Given the description of an element on the screen output the (x, y) to click on. 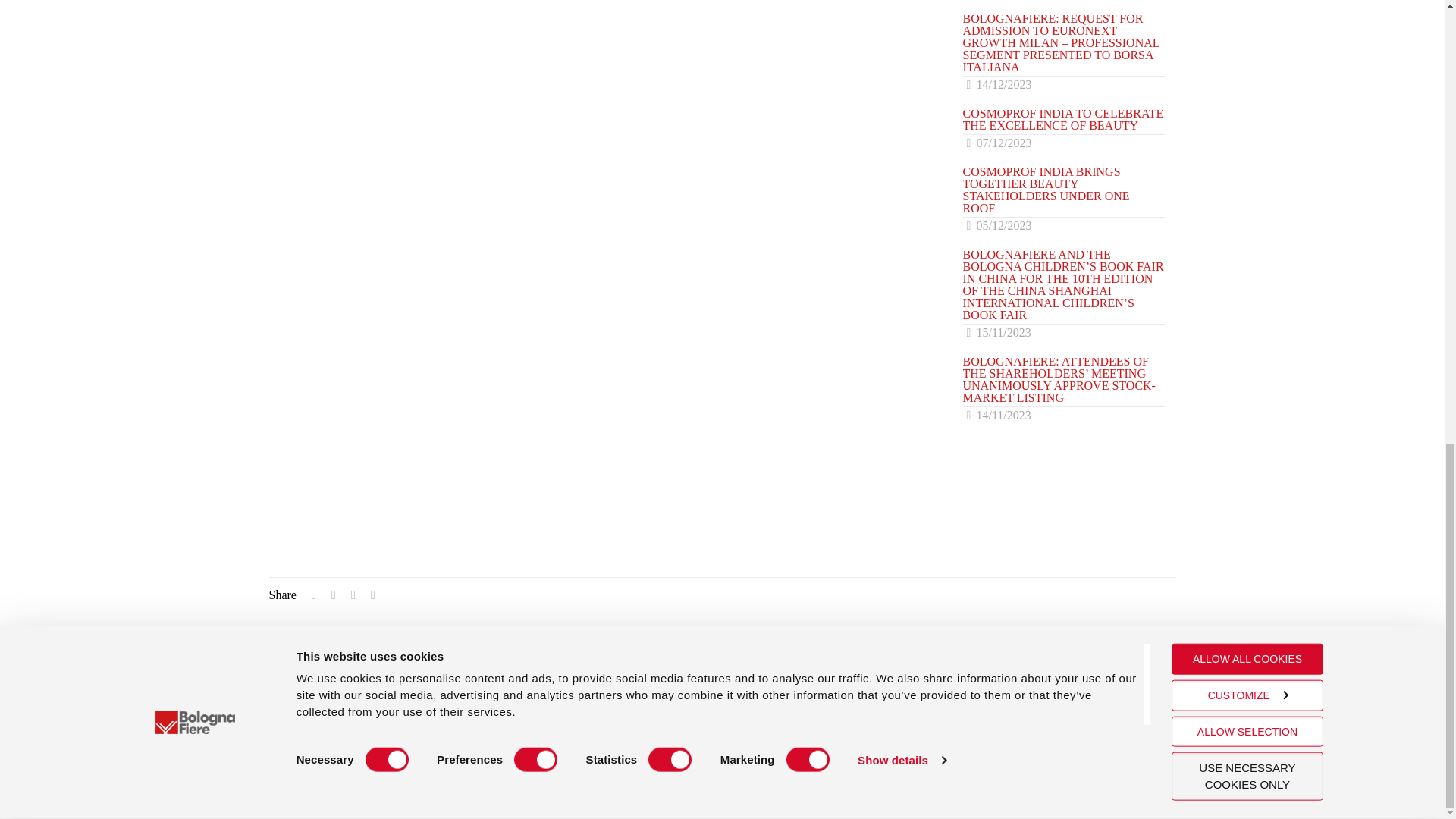
Instagram (1091, 761)
Facebook (1106, 761)
LinkedIn (1074, 761)
YouTube (1123, 761)
